Given the description of an element on the screen output the (x, y) to click on. 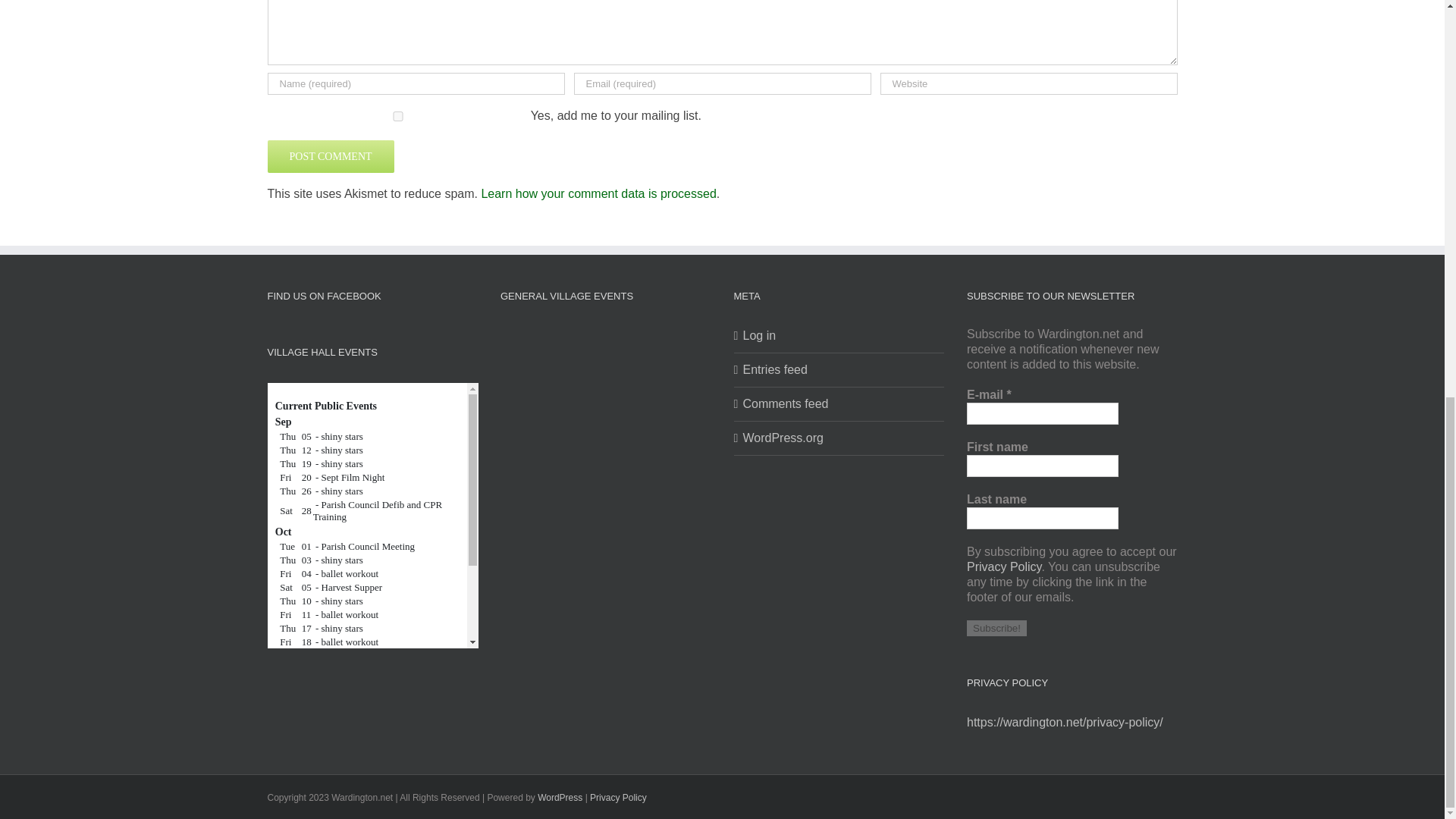
E-mail (1042, 413)
1 (396, 116)
Post Comment (329, 156)
Subscribe! (996, 627)
First name (1042, 465)
